Given the description of an element on the screen output the (x, y) to click on. 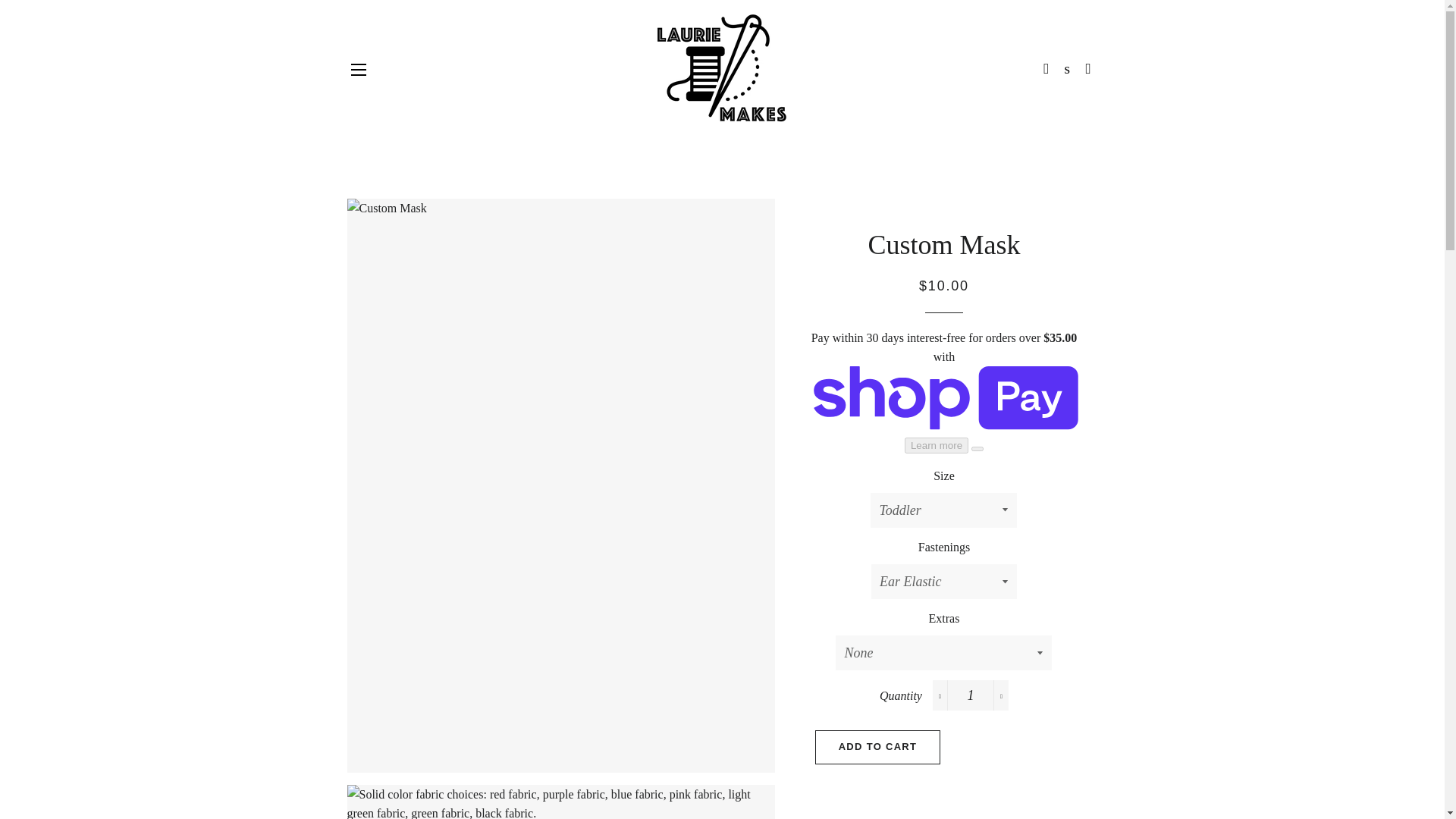
ADD TO CART (877, 746)
SITE NAVIGATION (358, 68)
1 (971, 695)
